Given the description of an element on the screen output the (x, y) to click on. 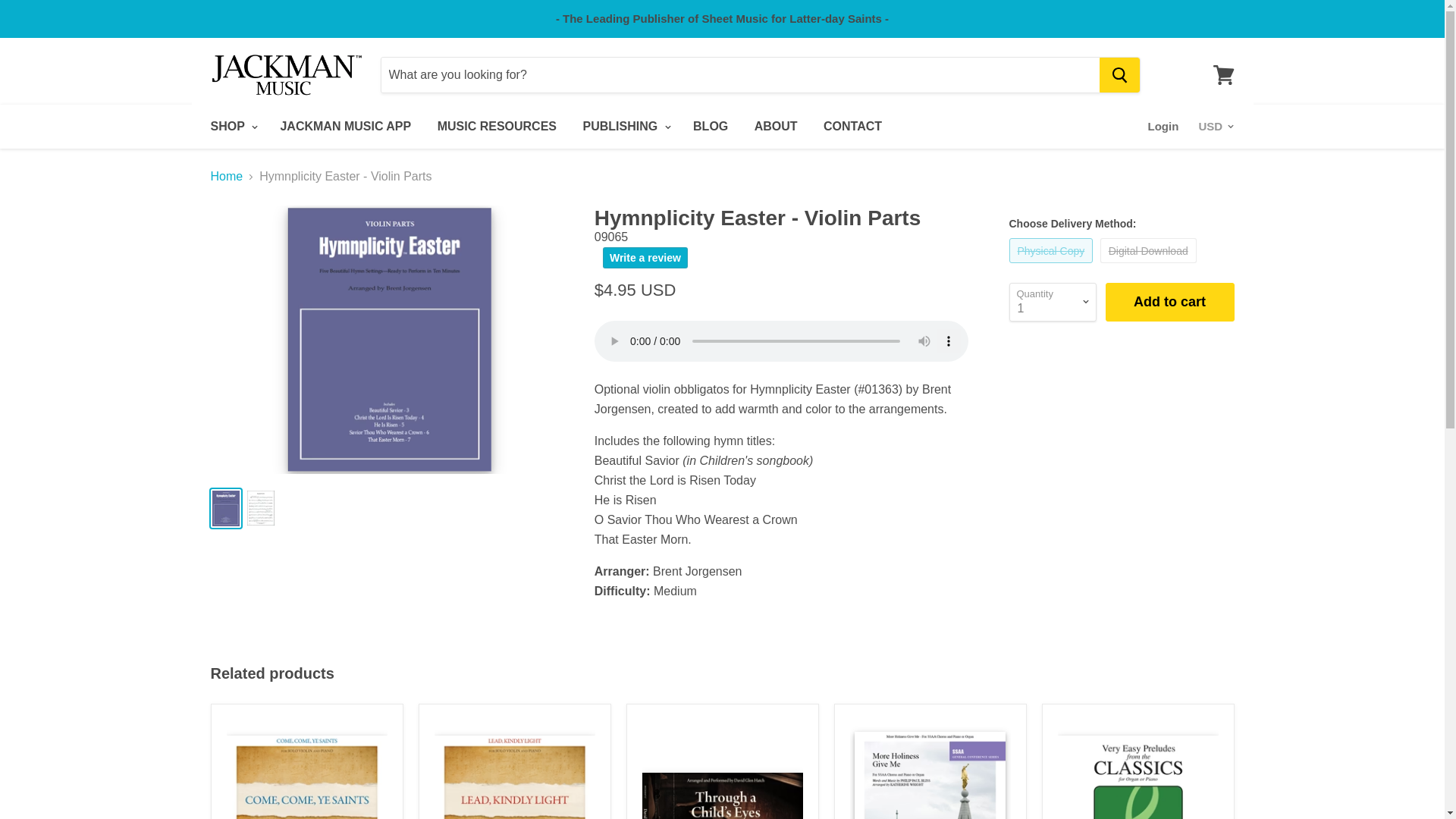
Hymnplicity Easter - Violin Parts (781, 341)
CONTACT (852, 126)
Login (1163, 126)
ABOUT (775, 126)
MUSIC RESOURCES (496, 126)
SHOP (231, 126)
PUBLISHING (624, 126)
View cart (1223, 74)
BLOG (710, 126)
JACKMAN MUSIC APP (344, 126)
